Given the description of an element on the screen output the (x, y) to click on. 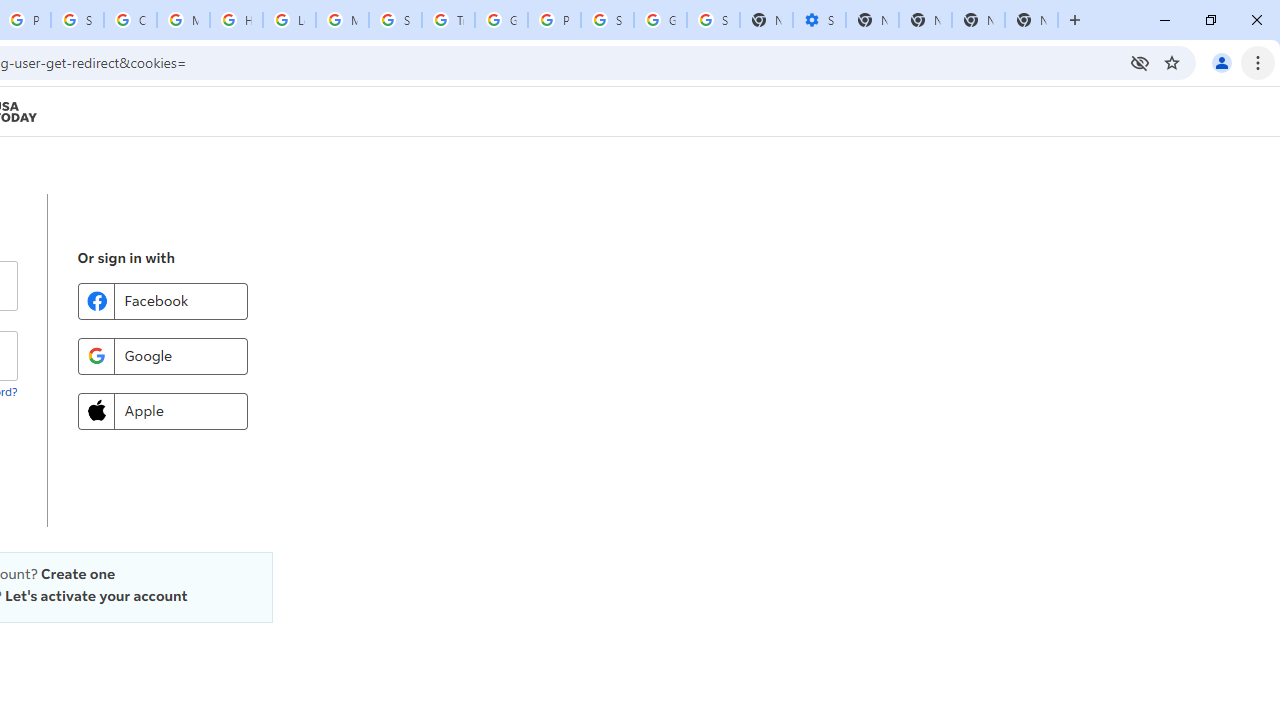
Trusted Information and Content - Google Safety Center (448, 20)
Sign in - Google Accounts (713, 20)
Sign in - Google Accounts (607, 20)
New Tab (1031, 20)
Google Cybersecurity Innovations - Google Safety Center (660, 20)
Facebook (162, 300)
Settings - Performance (819, 20)
